Given the description of an element on the screen output the (x, y) to click on. 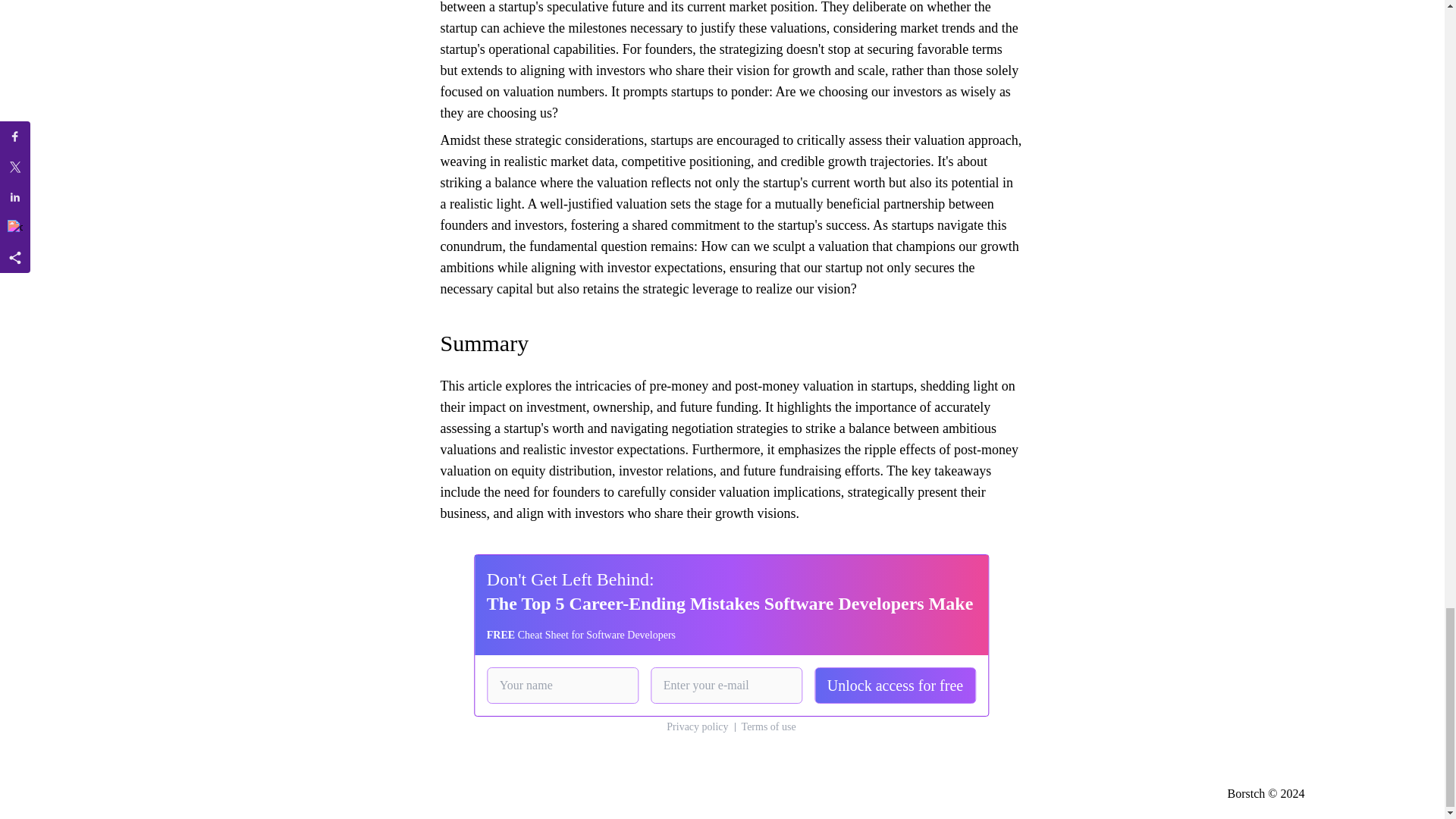
Terms of use (768, 726)
Unlock access for free (894, 685)
Privacy policy (697, 726)
